Given the description of an element on the screen output the (x, y) to click on. 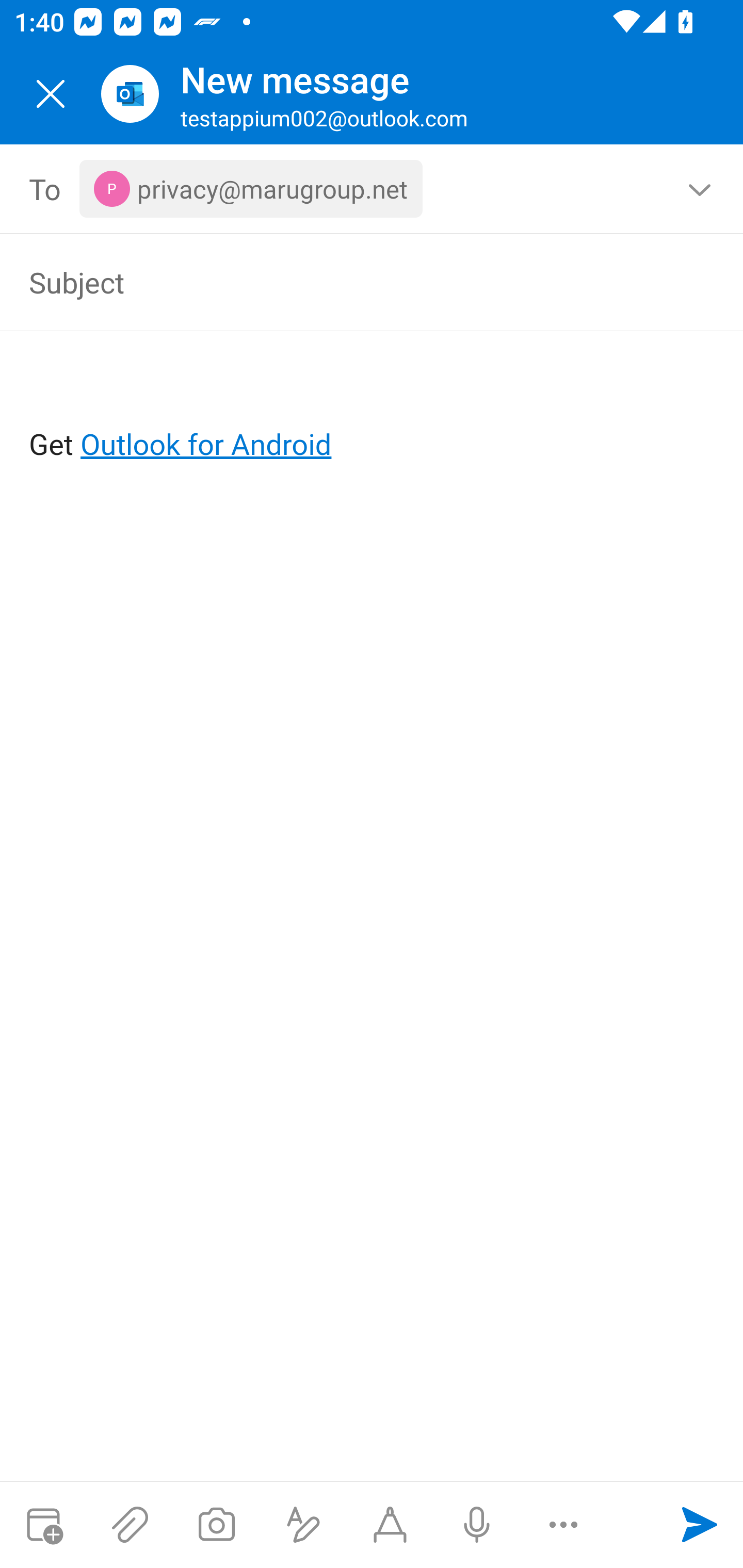
Close (50, 93)
Subject (342, 281)


Get Outlook for Android (372, 411)
Attach meeting (43, 1524)
Attach files (129, 1524)
Take a photo (216, 1524)
Show formatting options (303, 1524)
Start Ink compose (389, 1524)
Dictation (476, 1524)
More options (563, 1524)
Send (699, 1524)
